Given the description of an element on the screen output the (x, y) to click on. 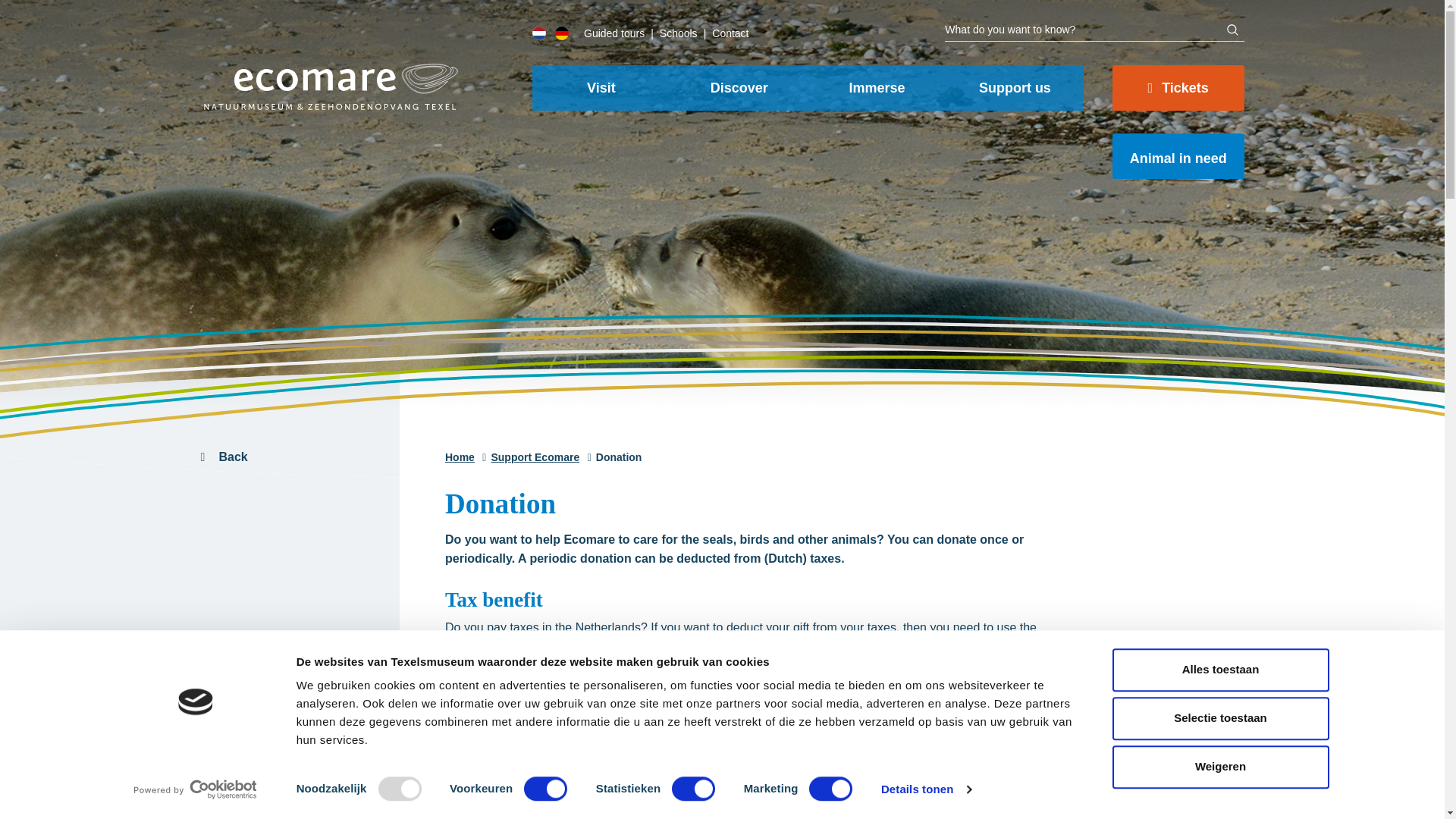
Details tonen (925, 789)
Back (290, 456)
